Given the description of an element on the screen output the (x, y) to click on. 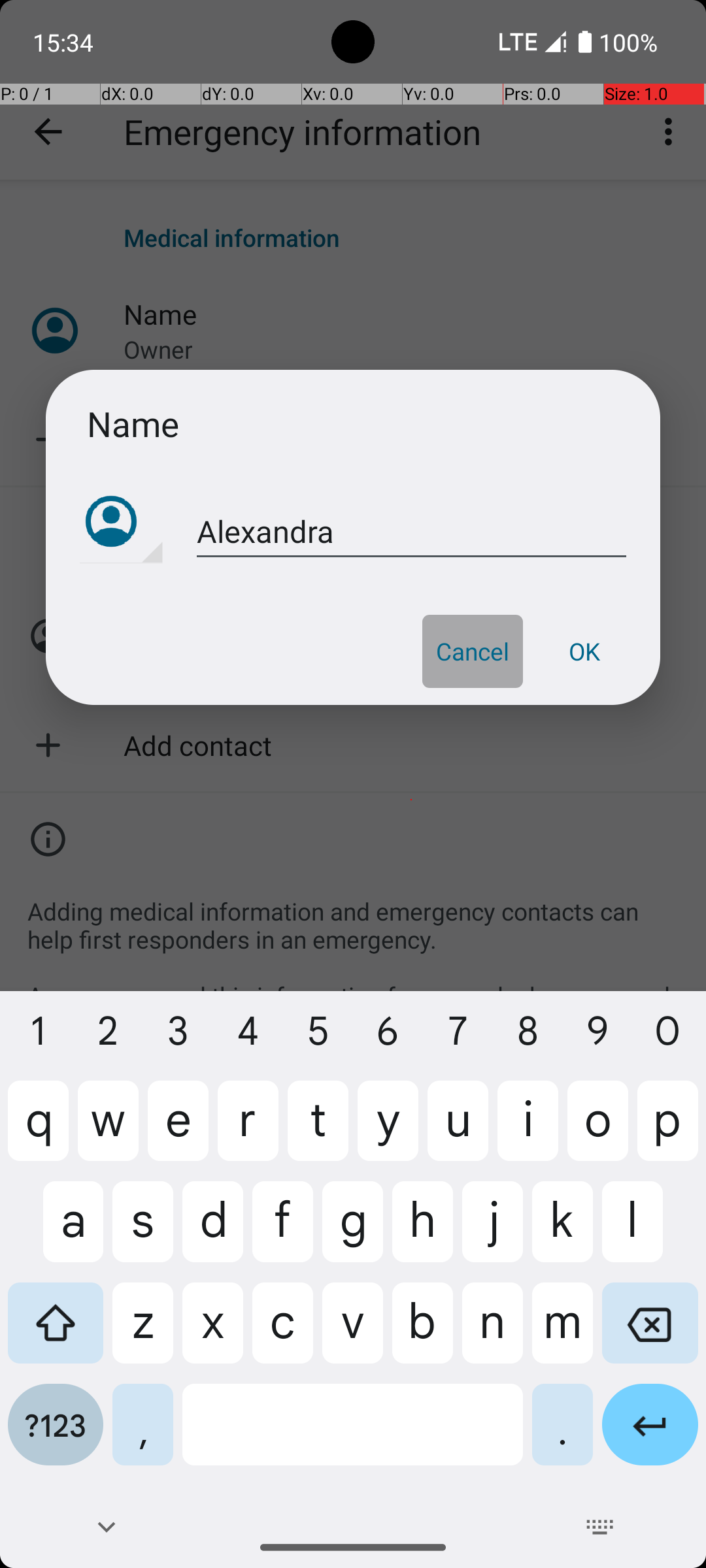
Select photo Element type: android.widget.ImageView (121, 522)
Alexandra Element type: android.widget.EditText (411, 531)
